Given the description of an element on the screen output the (x, y) to click on. 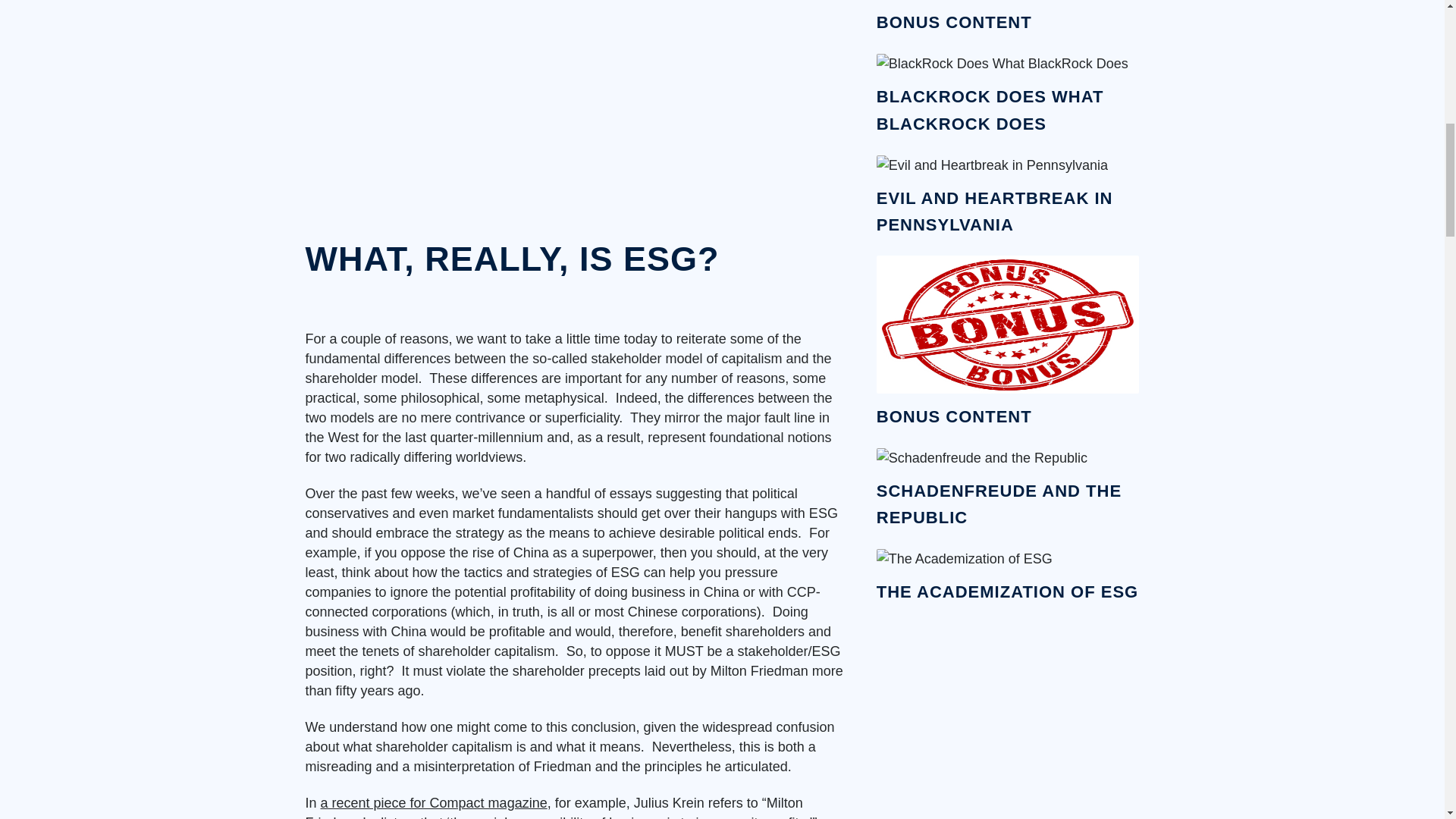
EVIL AND HEARTBREAK IN PENNSYLVANIA (994, 212)
BONUS CONTENT (954, 22)
BLACKROCK DOES WHAT BLACKROCK DOES (989, 109)
BONUS CONTENT (954, 416)
a recent piece for Compact magazine (433, 802)
